Given the description of an element on the screen output the (x, y) to click on. 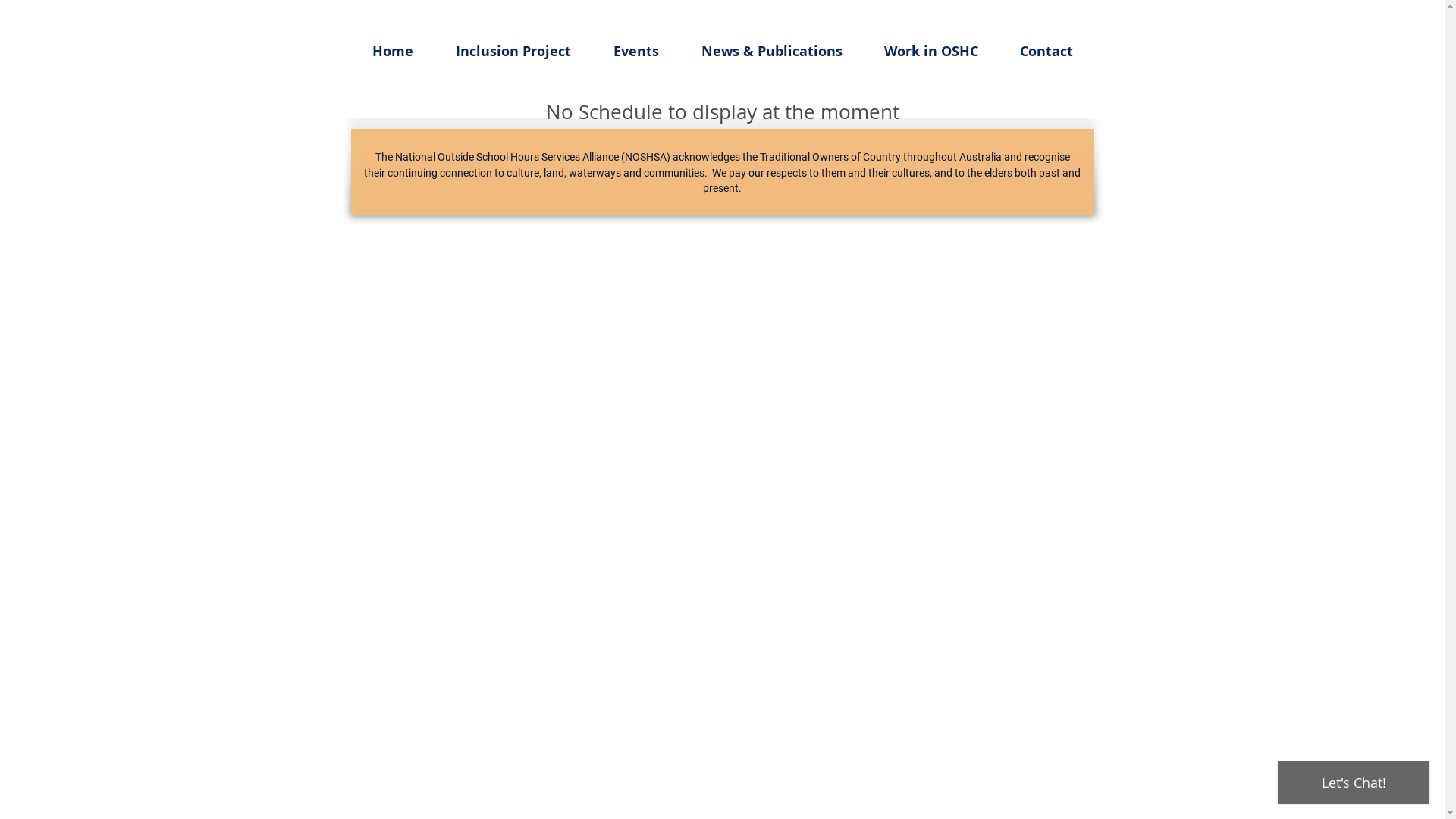
Home Element type: text (391, 50)
Events Element type: text (635, 50)
Inclusion Project Element type: text (512, 50)
News & Publications Element type: text (770, 50)
Work in OSHC Element type: text (930, 50)
Contact Element type: text (1046, 50)
